Given the description of an element on the screen output the (x, y) to click on. 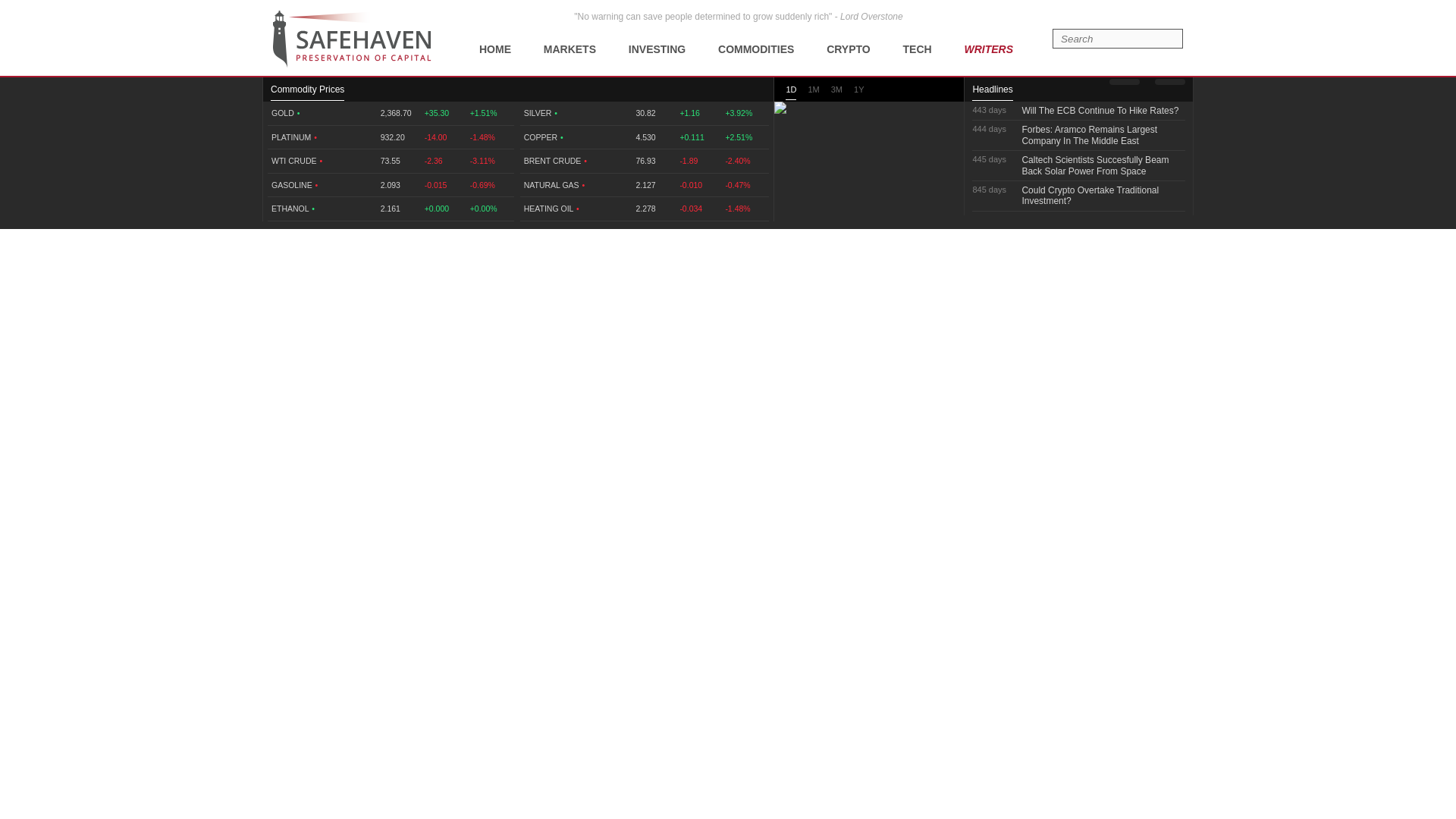
Commodity Prices (306, 92)
Headlines (991, 92)
INVESTING (657, 38)
Oil prices - Oilprice.com (351, 38)
COMMODITIES (755, 38)
